Given the description of an element on the screen output the (x, y) to click on. 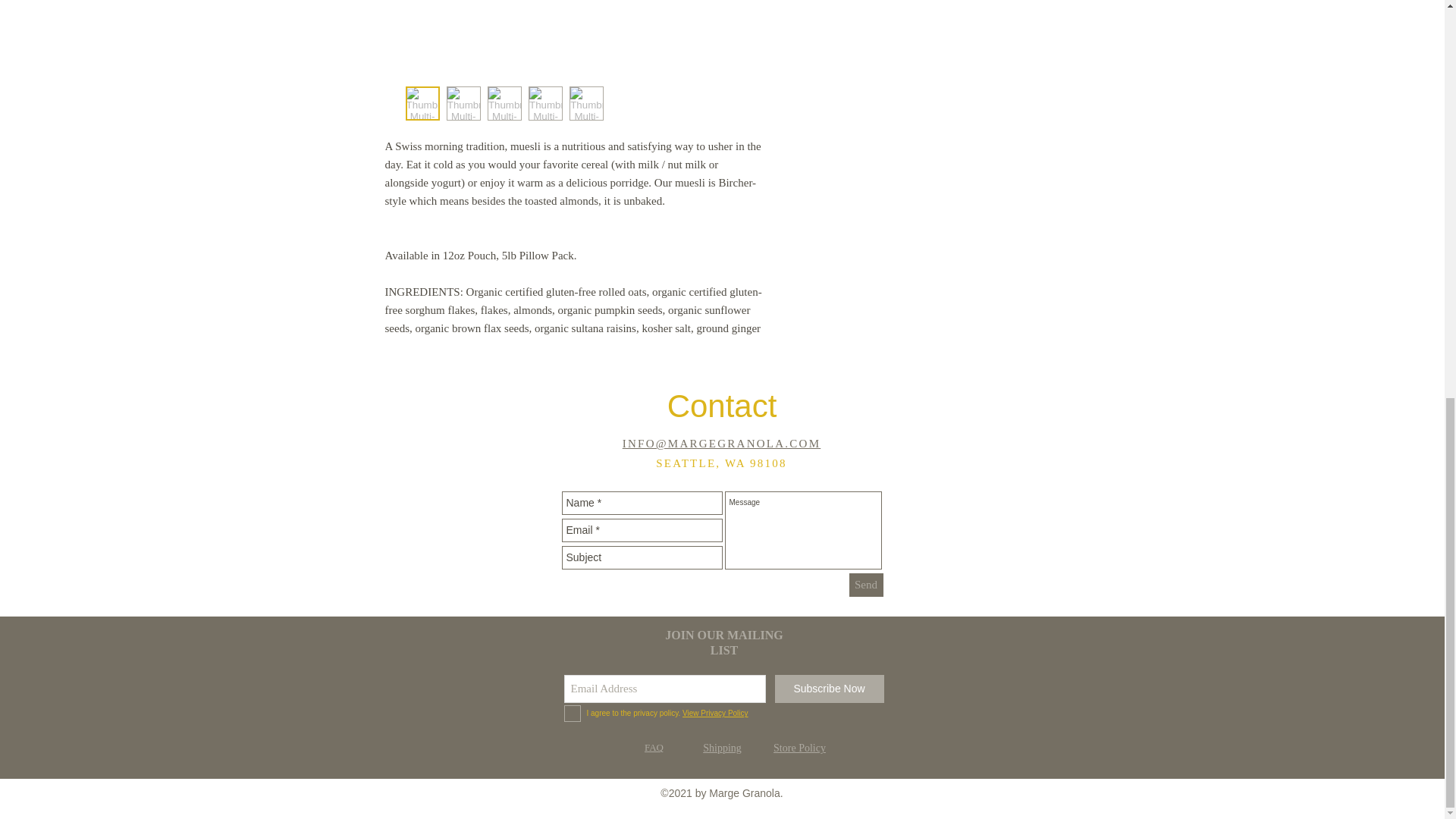
Subscribe Now (828, 688)
Store Policy (799, 747)
Shipping (722, 747)
View Privacy Policy (715, 713)
Send (865, 585)
FAQ (654, 747)
